Given the description of an element on the screen output the (x, y) to click on. 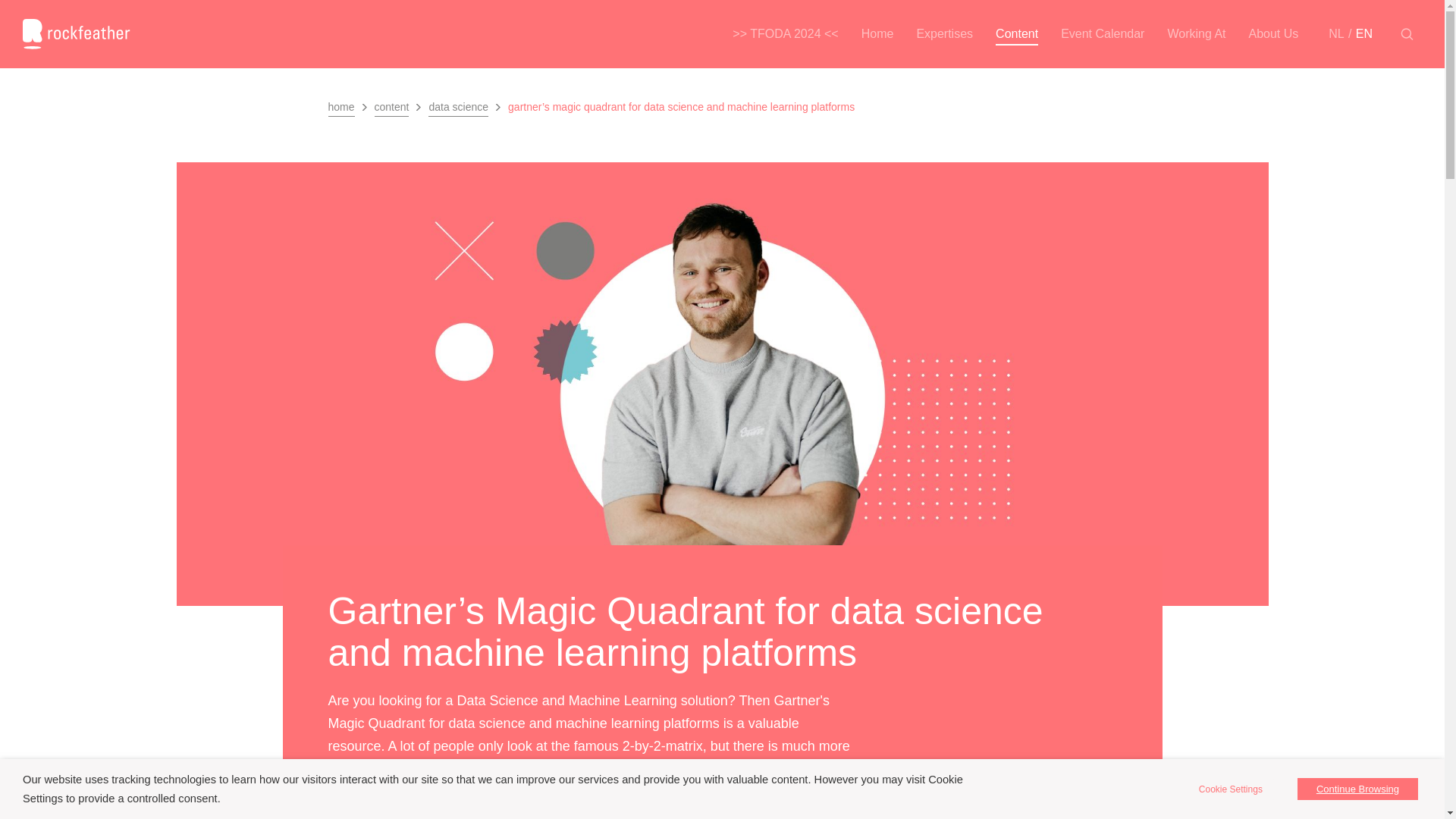
data science (457, 107)
Nederlands (1335, 34)
Content (1016, 34)
About Us (1273, 34)
home (340, 109)
Event Calendar (1102, 34)
content (391, 108)
EN (1358, 34)
NL (1335, 34)
English (1358, 34)
Home (877, 34)
Expertises (944, 34)
Working At (1196, 34)
Search (1406, 33)
